Given the description of an element on the screen output the (x, y) to click on. 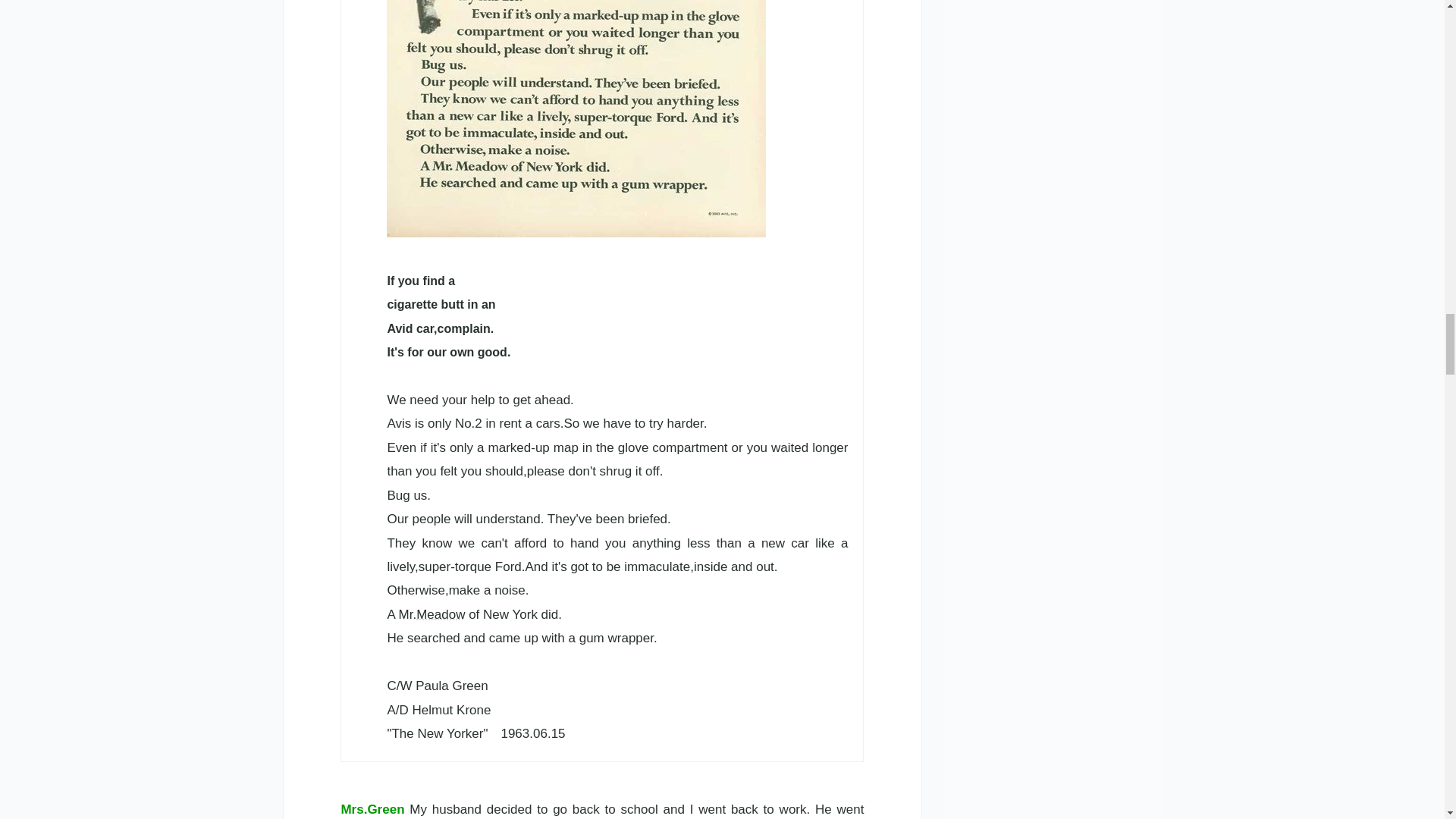
Meadow (440, 614)
f:id:chuukyuu:20100822091421j:image (576, 118)
